Given the description of an element on the screen output the (x, y) to click on. 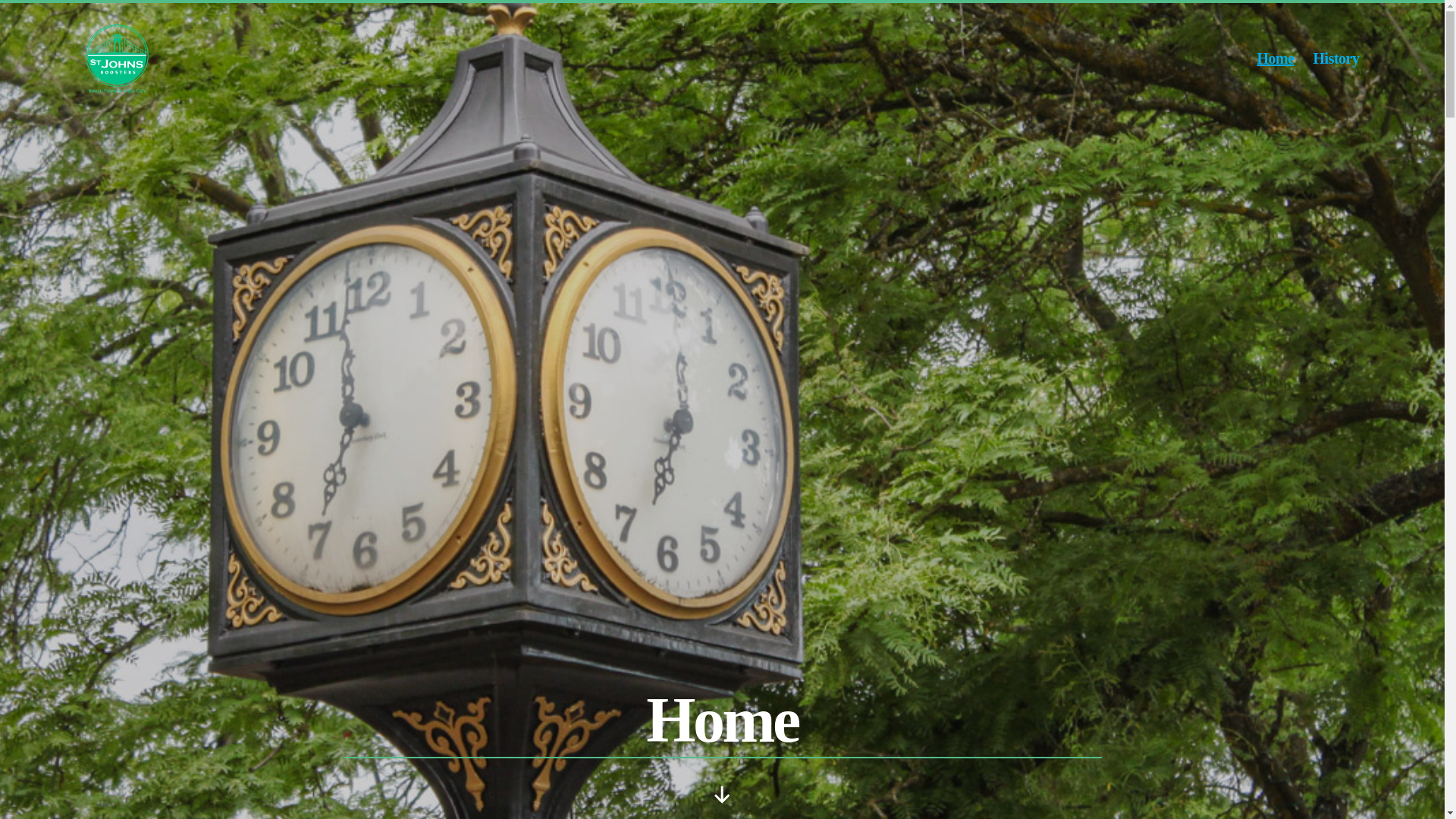
Home (1275, 58)
History (1336, 58)
